Given the description of an element on the screen output the (x, y) to click on. 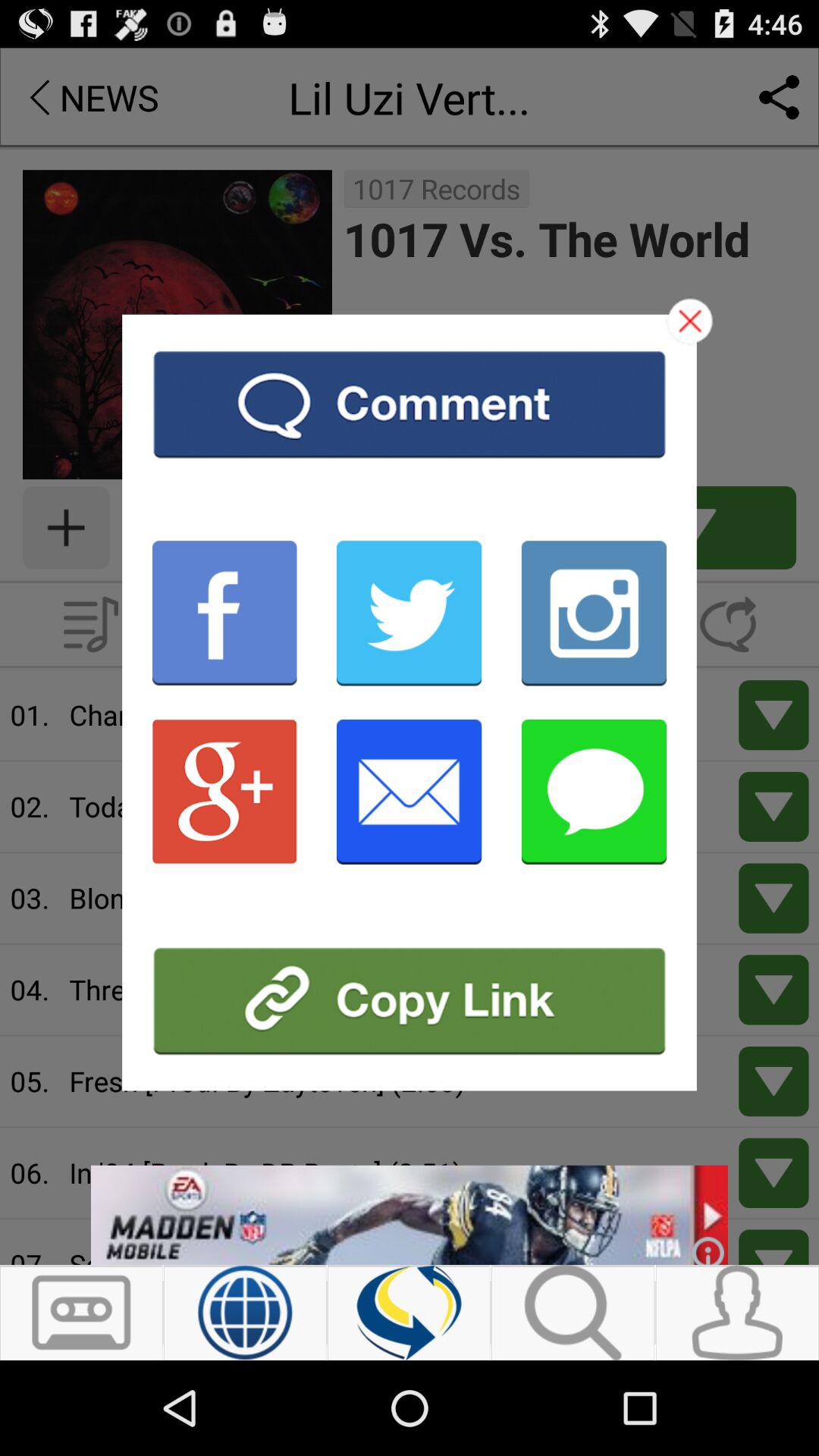
close (689, 320)
